Given the description of an element on the screen output the (x, y) to click on. 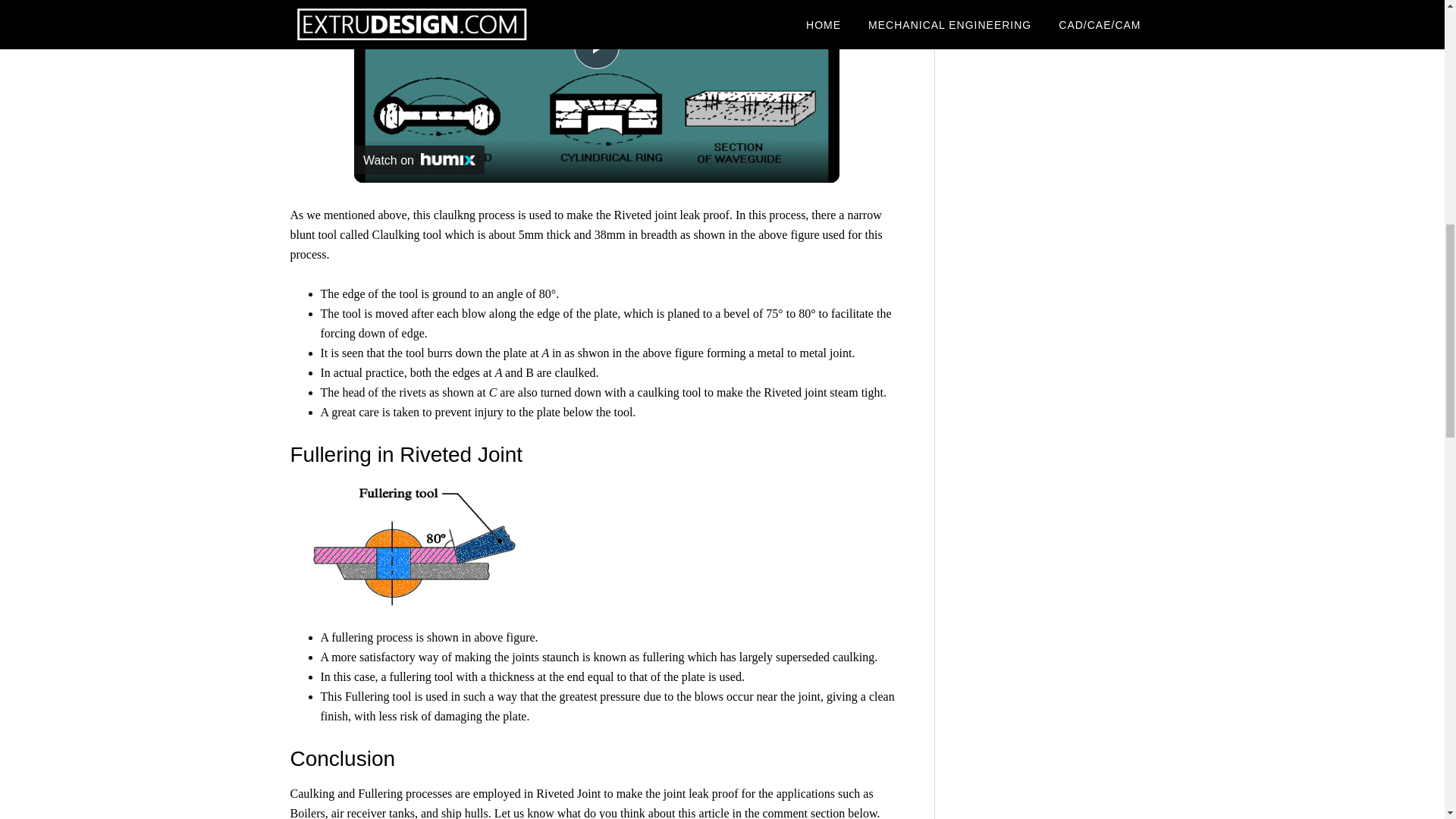
Play Video (596, 45)
